Given the description of an element on the screen output the (x, y) to click on. 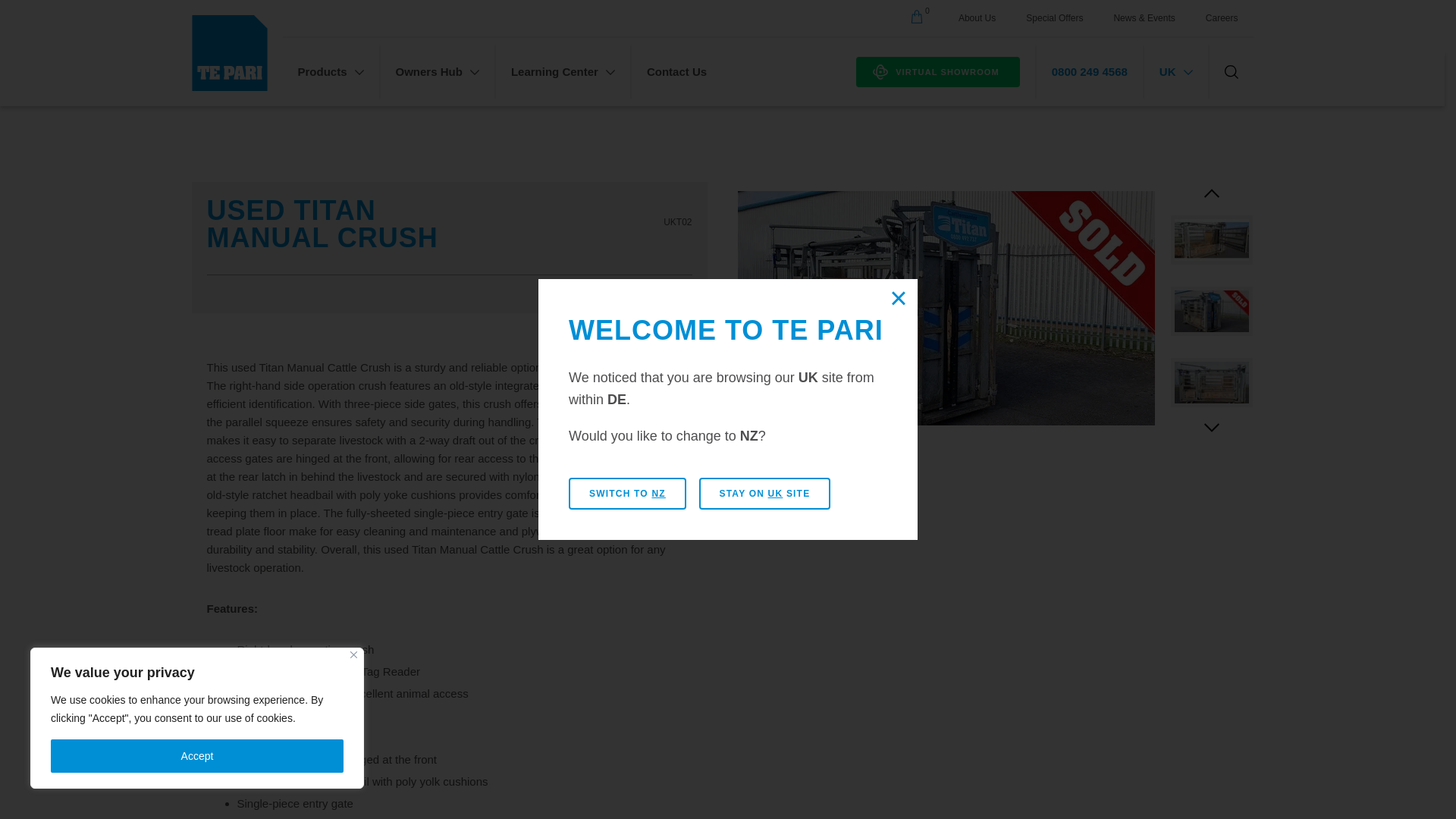
Accept (196, 756)
Products (330, 71)
0 (918, 19)
Careers (1222, 18)
Special Offers (1053, 18)
About Us (976, 18)
